Given the description of an element on the screen output the (x, y) to click on. 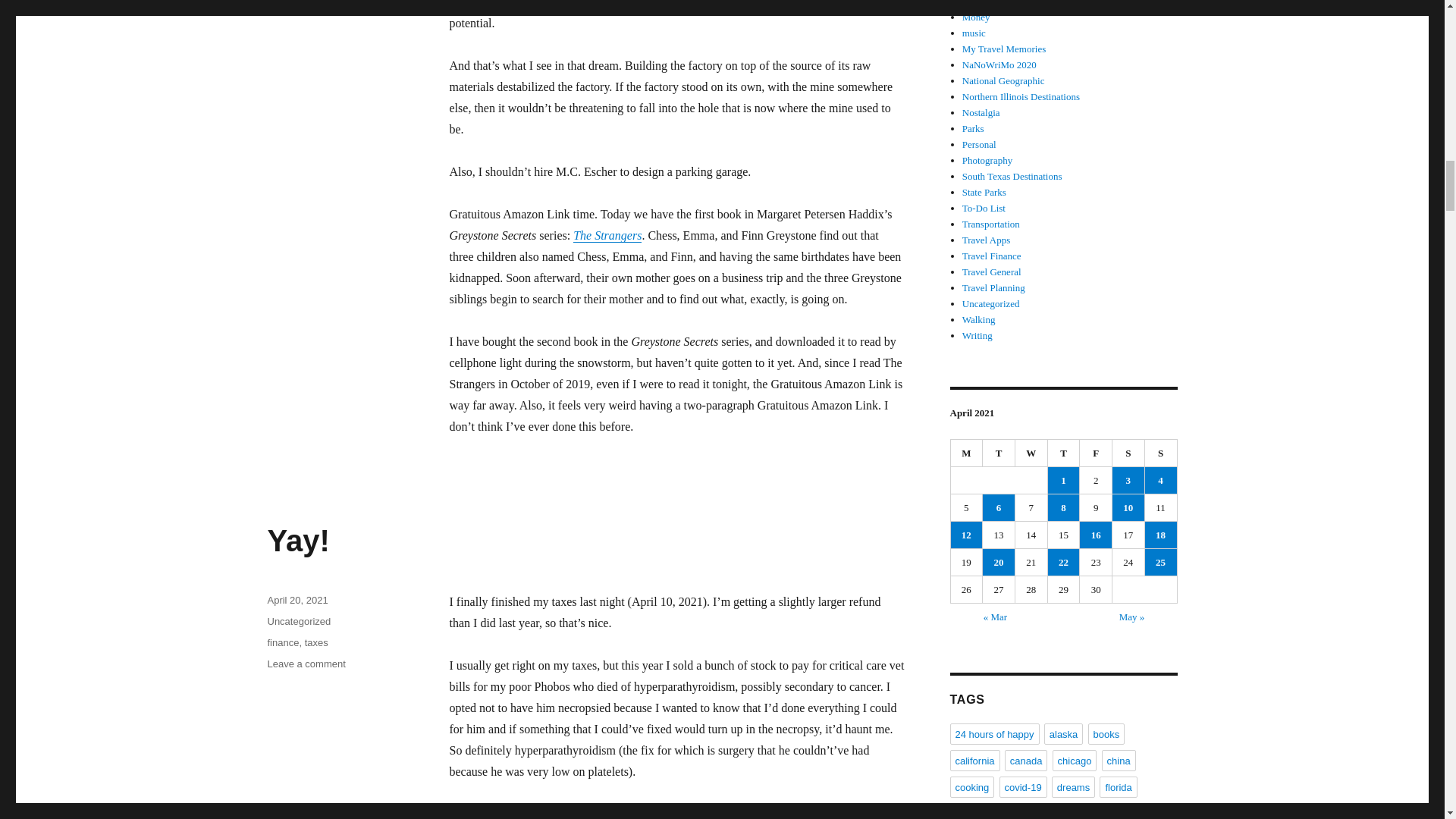
finance (282, 642)
The Strangers (607, 235)
Yay! (297, 540)
Wednesday (1031, 452)
taxes (305, 663)
Thursday (316, 642)
Sunday (1064, 452)
Tuesday (1160, 452)
Monday (998, 452)
Uncategorized (967, 452)
April 20, 2021 (298, 621)
Saturday (296, 600)
Friday (1128, 452)
